Given the description of an element on the screen output the (x, y) to click on. 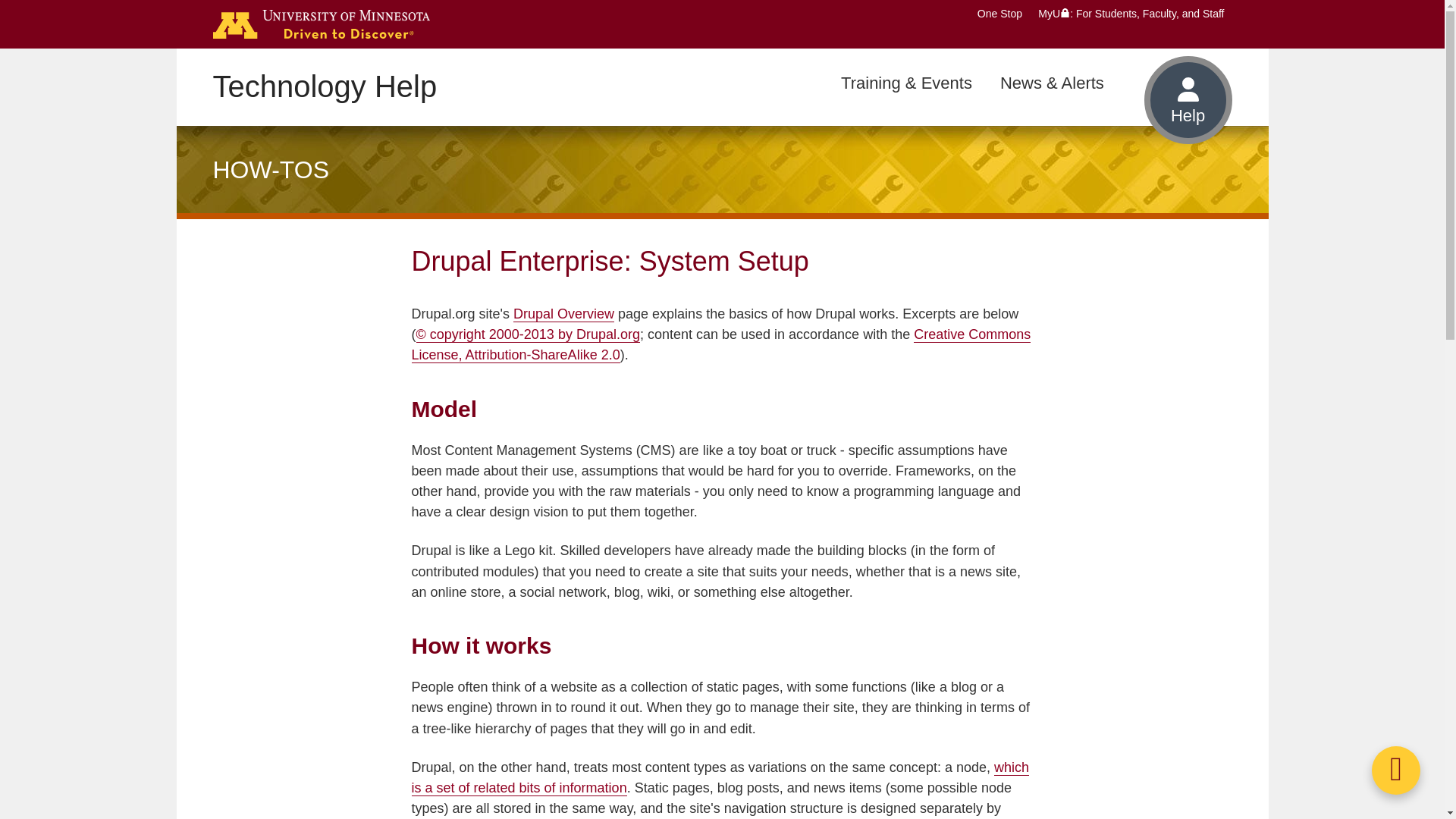
Drupal Overview (563, 314)
One Stop (999, 13)
which is a set of related bits of information (719, 778)
MyU: For Students, Faculty, and Staff (1131, 13)
which is a set of related bits of information (719, 778)
Creative Commons License, Attribution-ShareAlike 2.0 (720, 344)
Technology Help (324, 85)
Help (1186, 100)
